Given the description of an element on the screen output the (x, y) to click on. 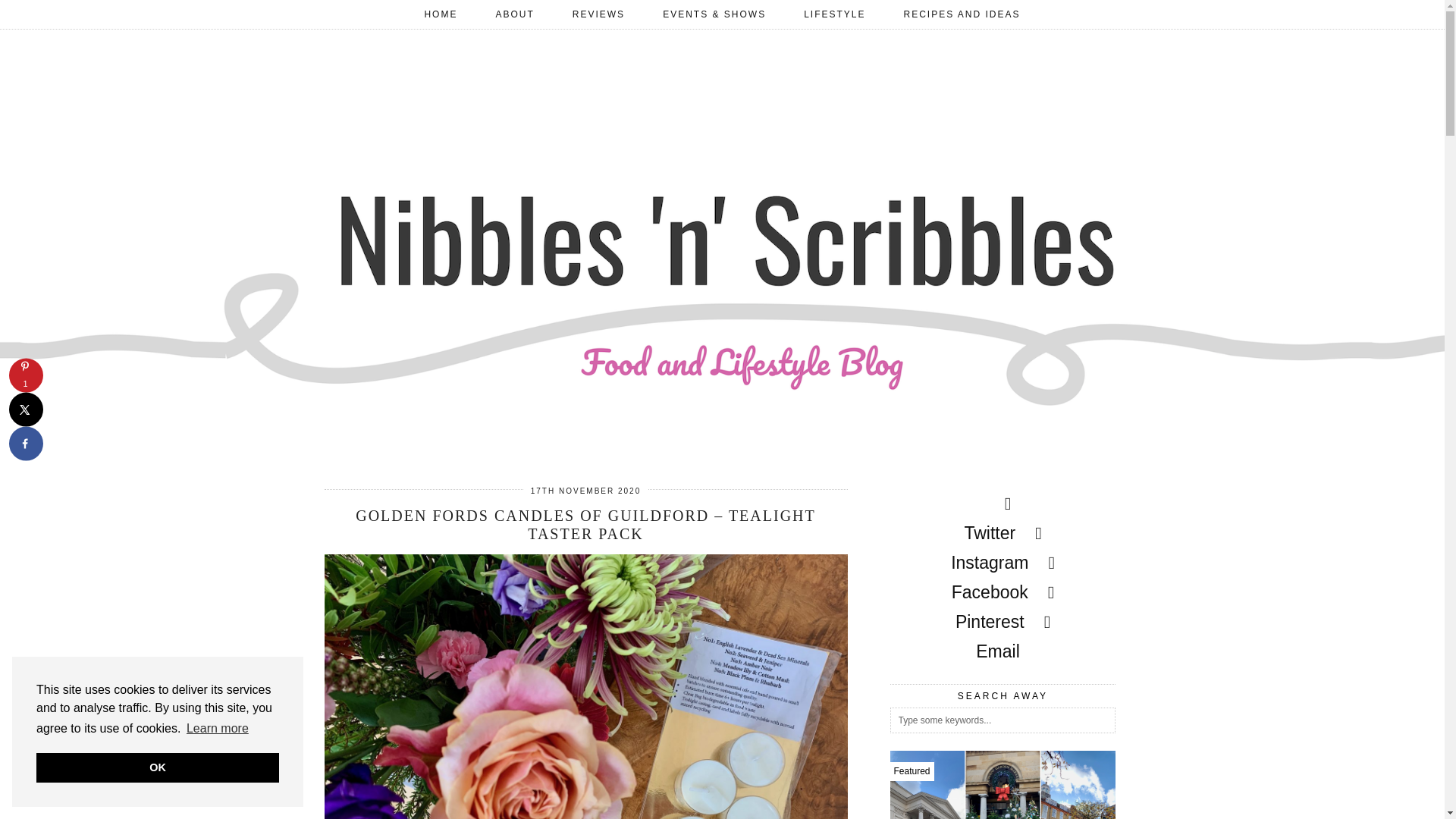
ABOUT (514, 14)
Learn more (217, 728)
HOME (440, 14)
REVIEWS (598, 14)
OK (157, 767)
